Given the description of an element on the screen output the (x, y) to click on. 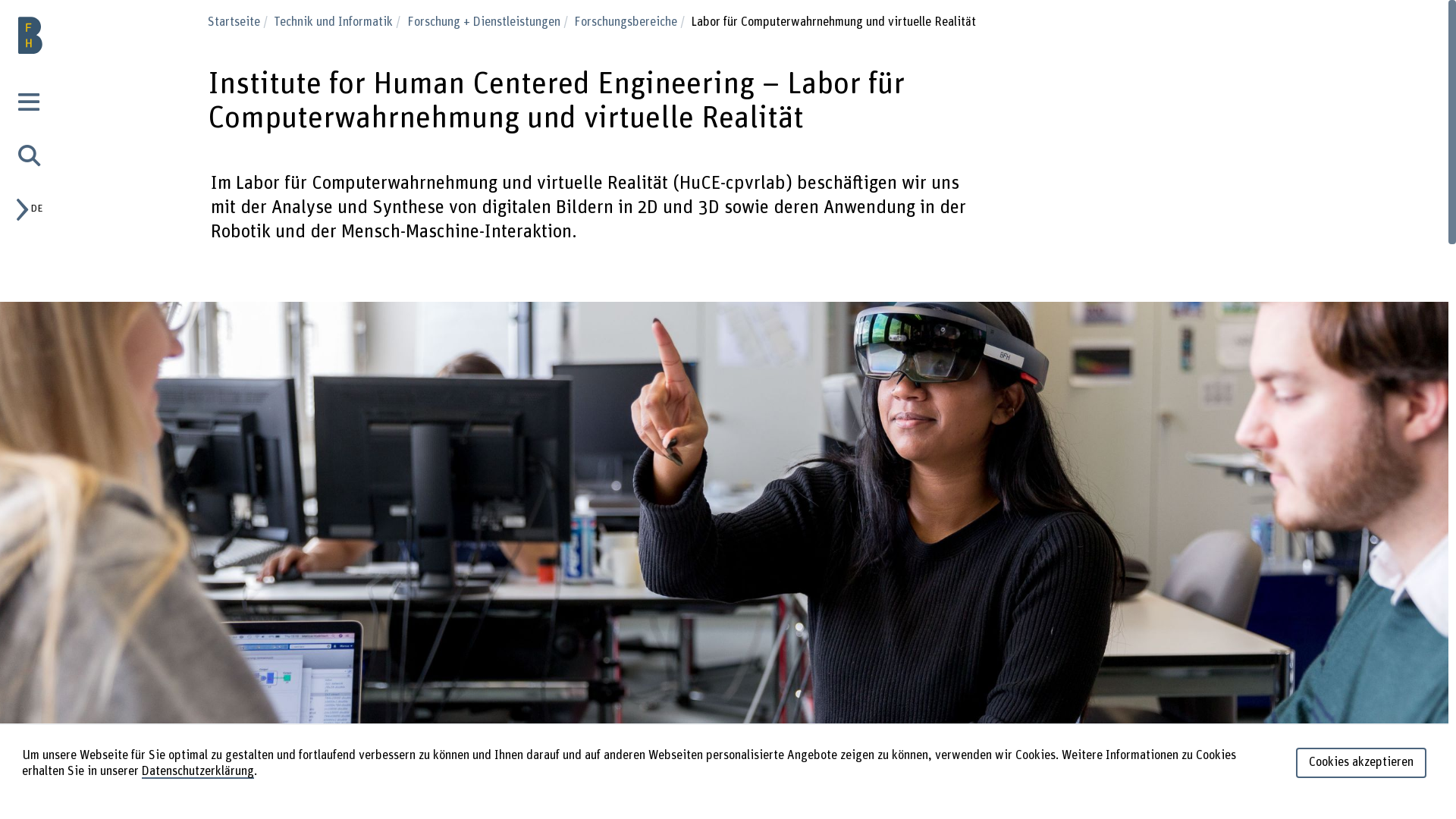
DE Element type: text (34, 208)
Startseite Element type: text (239, 21)
Cookies akzeptieren Element type: text (1360, 762)
Technik und Informatik Element type: text (338, 21)
Forschung + Dienstleistungen Element type: text (488, 21)
Forschungsbereiche Element type: text (631, 21)
